Given the description of an element on the screen output the (x, y) to click on. 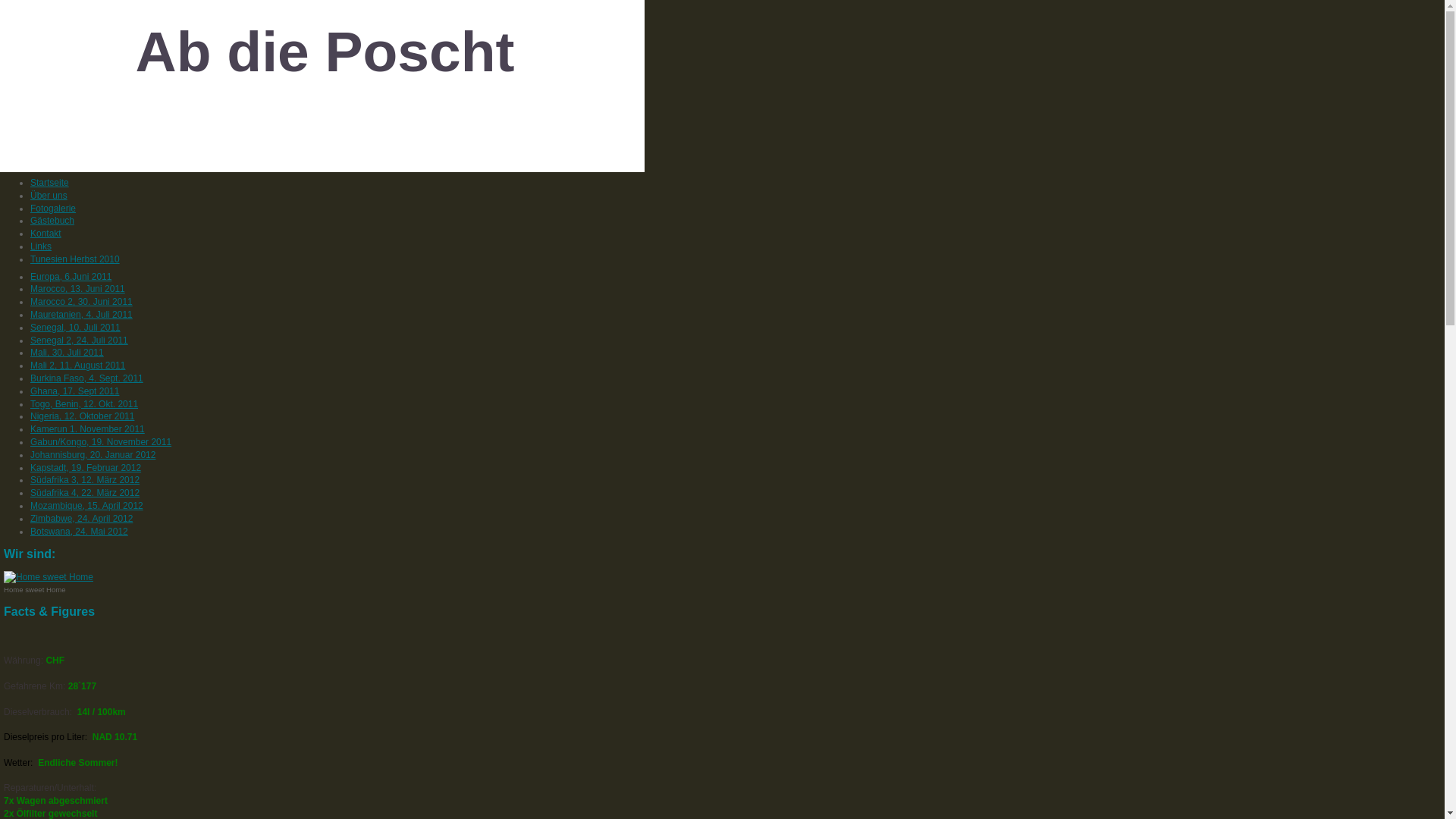
Burkina Faso, 4. Sept. 2011 Element type: text (86, 378)
Senegal, 10. Juli 2011 Element type: text (75, 327)
Mali 2, 11. August 2011 Element type: text (77, 365)
Startseite Element type: text (49, 182)
Togo, Benin, 12. Okt. 2011 Element type: text (84, 403)
Europa, 6.Juni 2011 Element type: text (70, 276)
Kapstadt, 19. Februar 2012 Element type: text (85, 467)
Botswana, 24. Mai 2012 Element type: text (79, 531)
Mauretanien, 4. Juli 2011 Element type: text (81, 314)
Kamerun 1. November 2011 Element type: text (87, 428)
Marocco 2, 30. Juni 2011 Element type: text (81, 301)
Mozambique, 15. April 2012 Element type: text (86, 505)
Ghana, 17. Sept 2011 Element type: text (74, 390)
Kontakt Element type: text (45, 233)
Senegal 2, 24. Juli 2011 Element type: text (79, 340)
Johannisburg, 20. Januar 2012 Element type: text (92, 454)
Marocco, 13. Juni 2011 Element type: text (77, 288)
Zimbabwe, 24. April 2012 Element type: text (81, 518)
Mali, 30. Juli 2011 Element type: text (66, 352)
Fotogalerie Element type: text (52, 208)
Links Element type: text (40, 246)
Gabun/Kongo, 19. November 2011 Element type: text (100, 441)
Nigeria, 12. Oktober 2011 Element type: text (82, 416)
Tunesien Herbst 2010 Element type: text (74, 259)
